Given the description of an element on the screen output the (x, y) to click on. 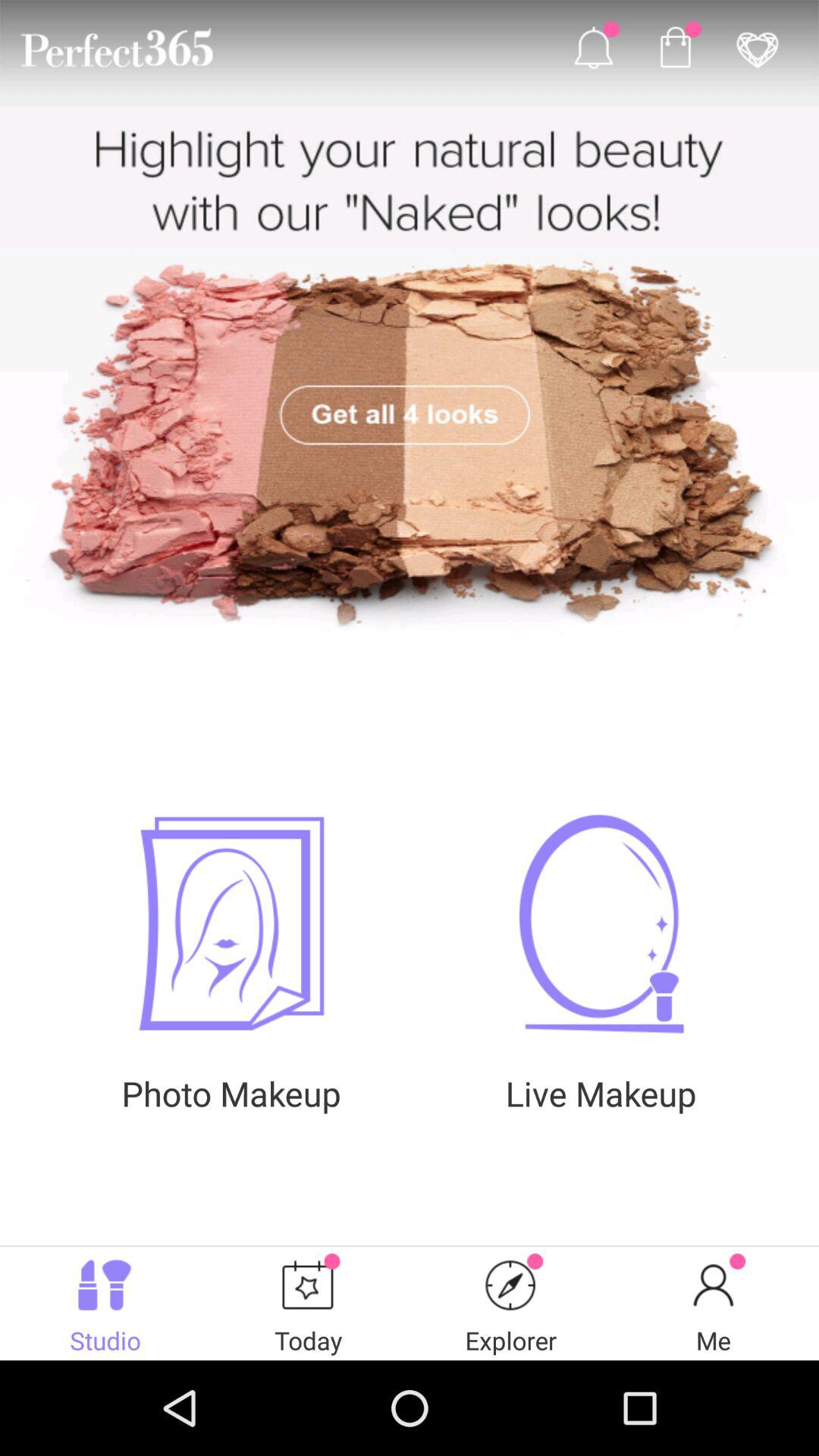
click on explorer (510, 1285)
click on photo makeup (230, 923)
click the bell icon on the web page (593, 47)
click the icon on the top right corner of the web page (757, 47)
click on the button which is next to the studio (308, 1302)
select the icon on the bottom right corner of the web page (713, 1285)
